Given the description of an element on the screen output the (x, y) to click on. 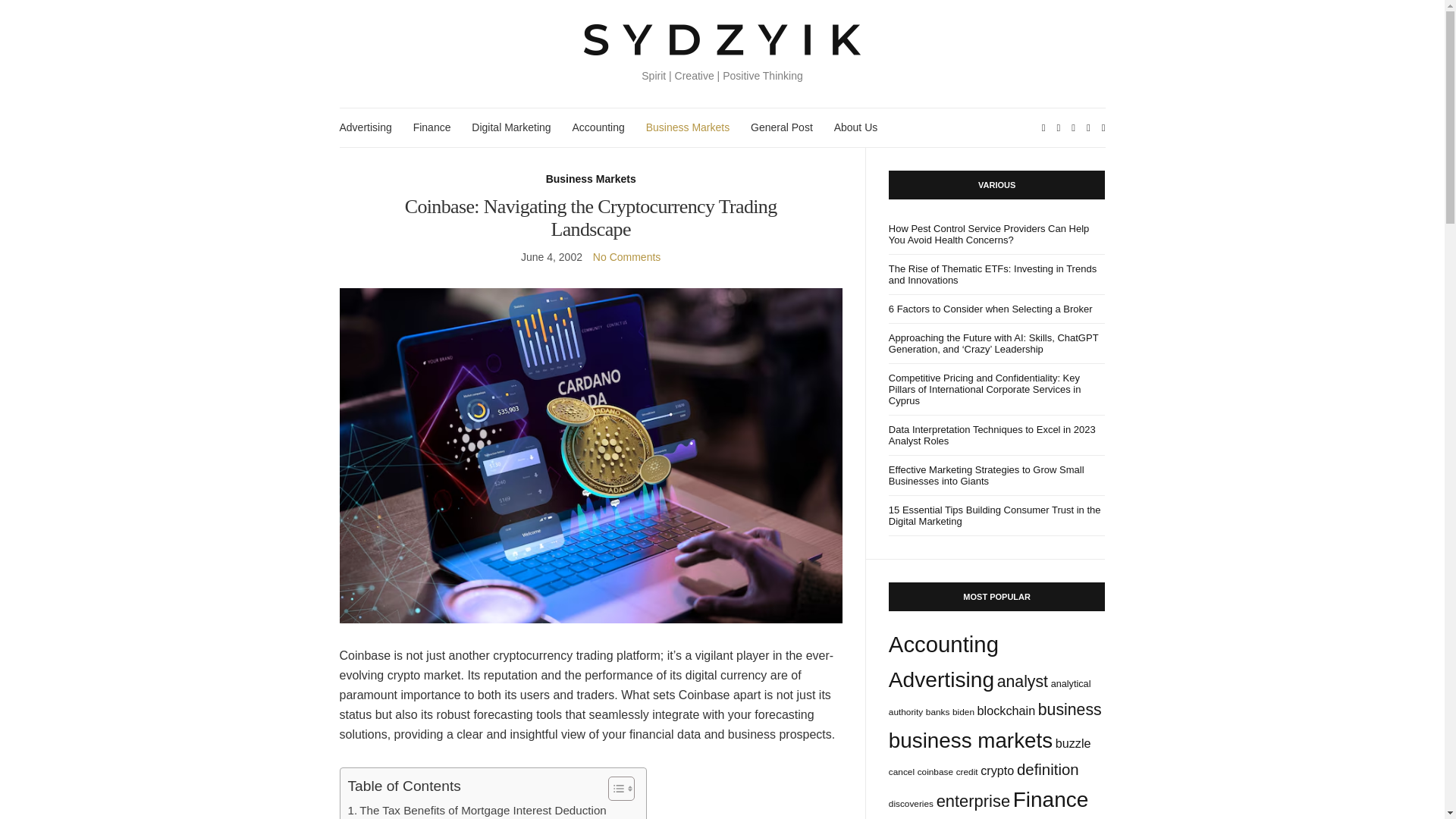
General Post (781, 127)
The Tax Benefits of Mortgage Interest Deduction (476, 810)
Advertising (365, 127)
Business Markets (591, 179)
Finance (432, 127)
Business Markets (687, 127)
The Tax Benefits of Mortgage Interest Deduction (476, 810)
Digital Marketing (510, 127)
About Us (855, 127)
Accounting (598, 127)
No Comments (626, 256)
